Given the description of an element on the screen output the (x, y) to click on. 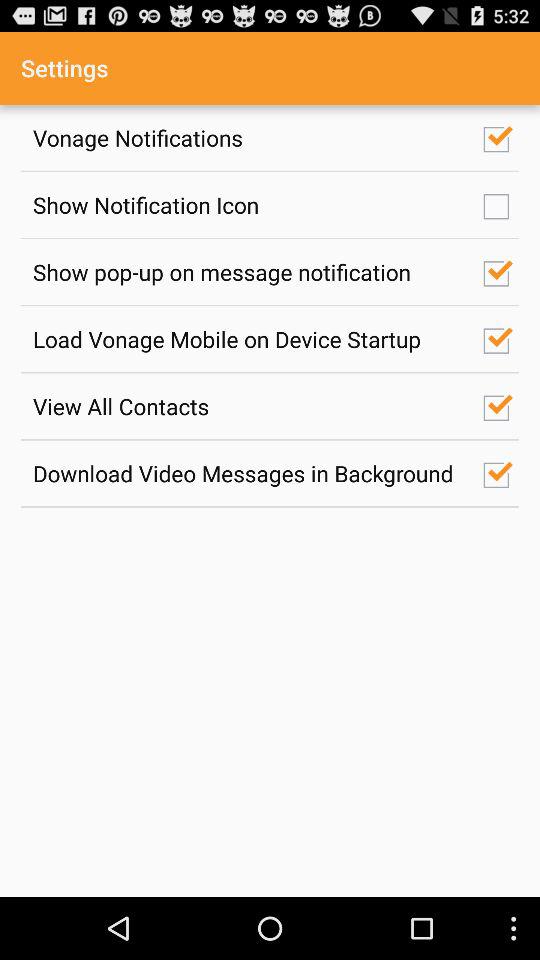
select icon above the load vonage mobile icon (247, 271)
